Given the description of an element on the screen output the (x, y) to click on. 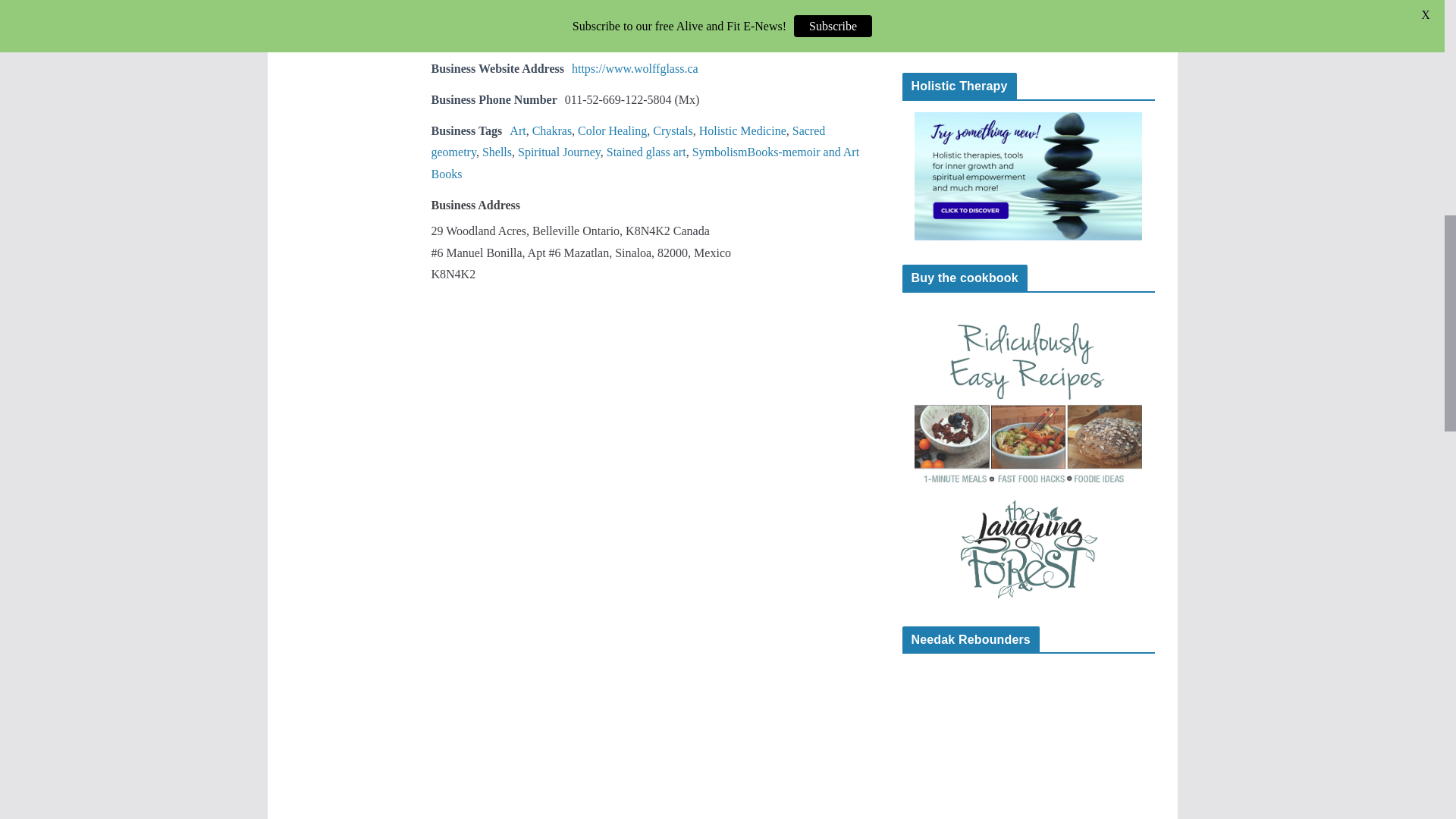
Art (517, 130)
Sacred geometry (627, 141)
Holistic Medicine (742, 130)
Crystals (672, 130)
Chakras (552, 130)
Shells (496, 151)
Color Healing (612, 130)
